Given the description of an element on the screen output the (x, y) to click on. 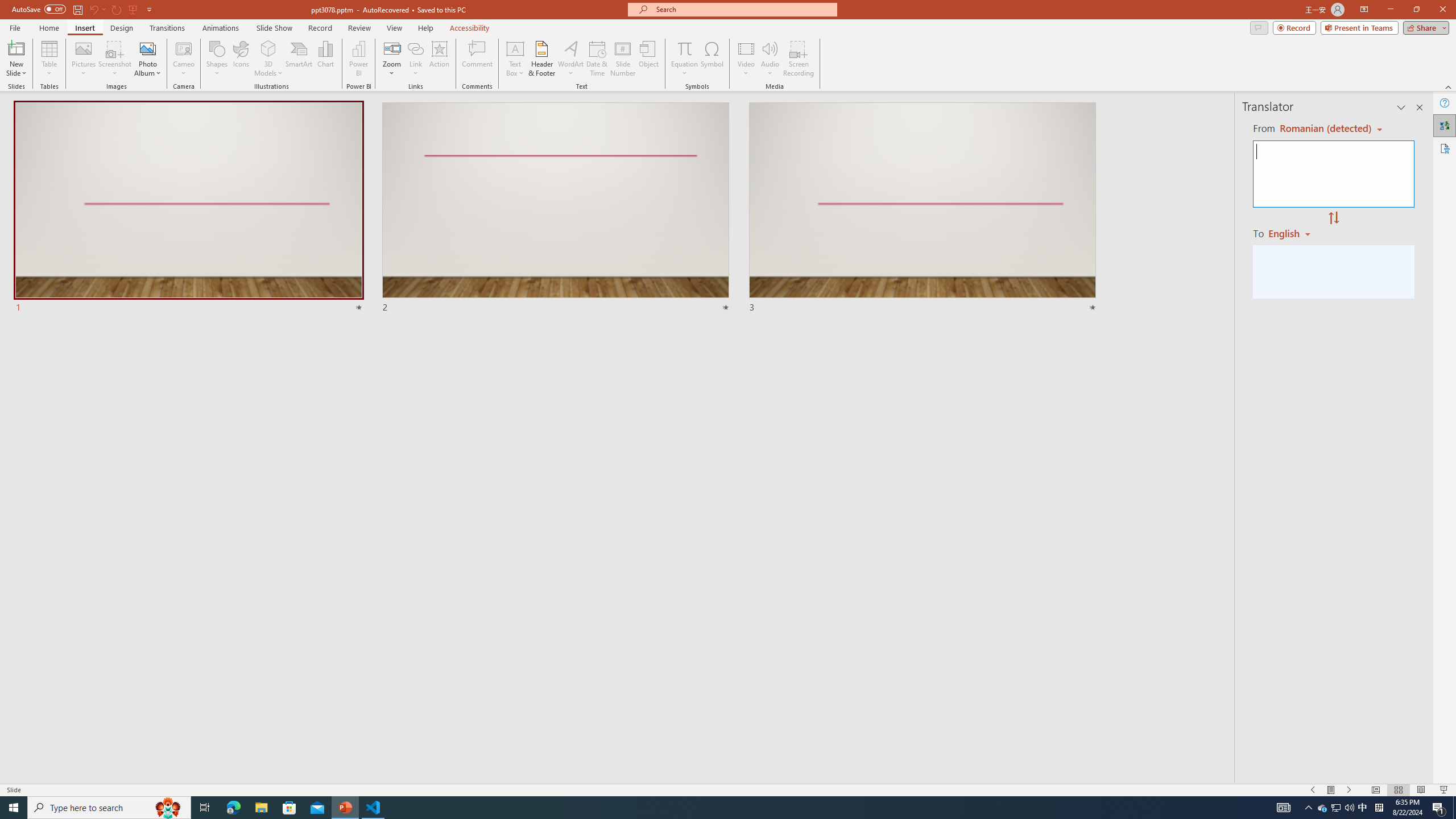
Table (49, 58)
Date & Time... (596, 58)
Pictures (83, 58)
Chart... (325, 58)
Task Pane Options (1400, 107)
Microsoft search (742, 9)
View (395, 28)
Customize Quick Access Toolbar (149, 9)
Text Box (515, 58)
